Given the description of an element on the screen output the (x, y) to click on. 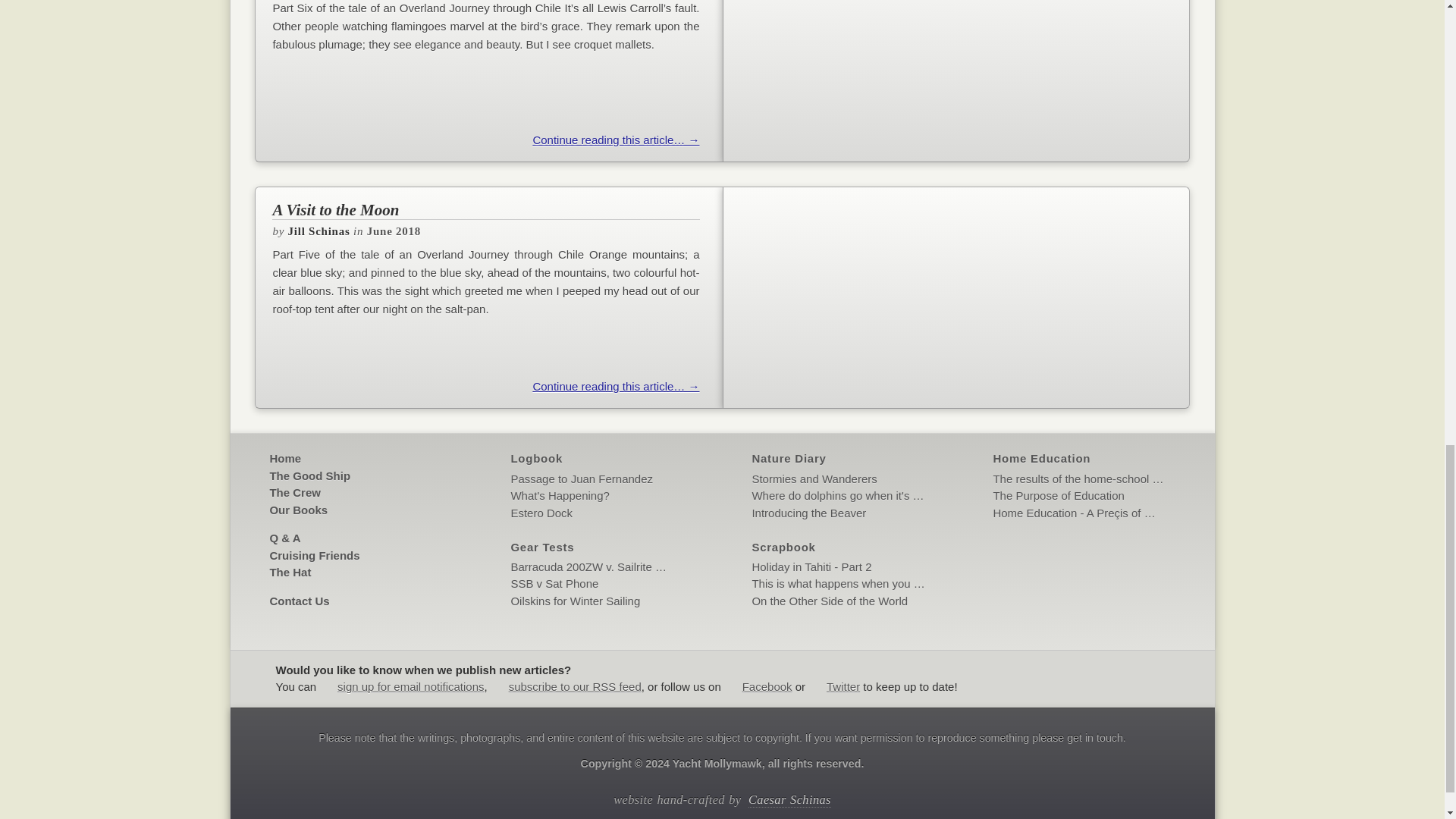
A Visit to the Moon (485, 209)
Posts by Jill Schinas (319, 231)
